Given the description of an element on the screen output the (x, y) to click on. 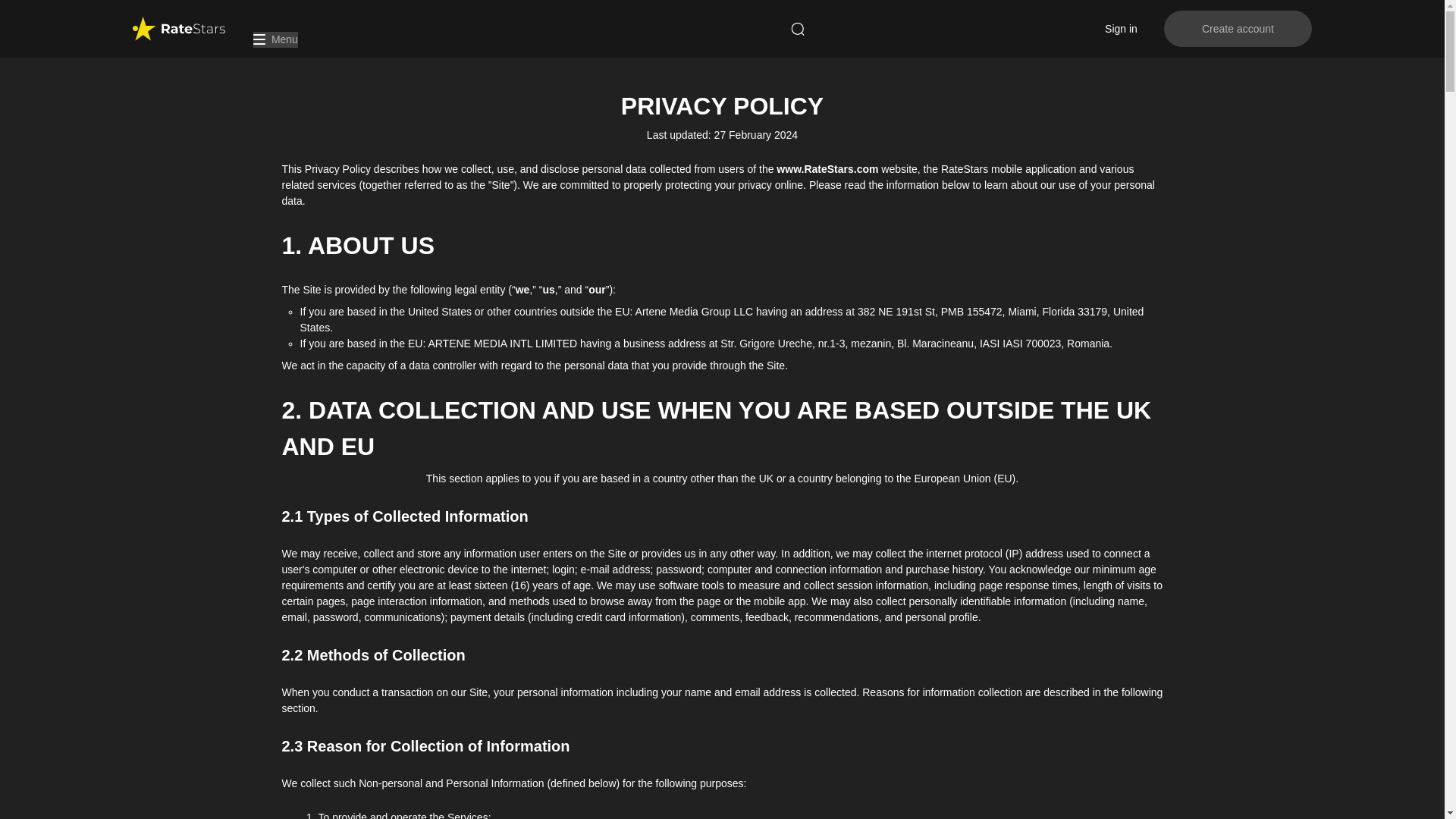
Sign in (1120, 28)
Create account (1237, 28)
www.RateStars.com (825, 168)
Menu (275, 39)
